Given the description of an element on the screen output the (x, y) to click on. 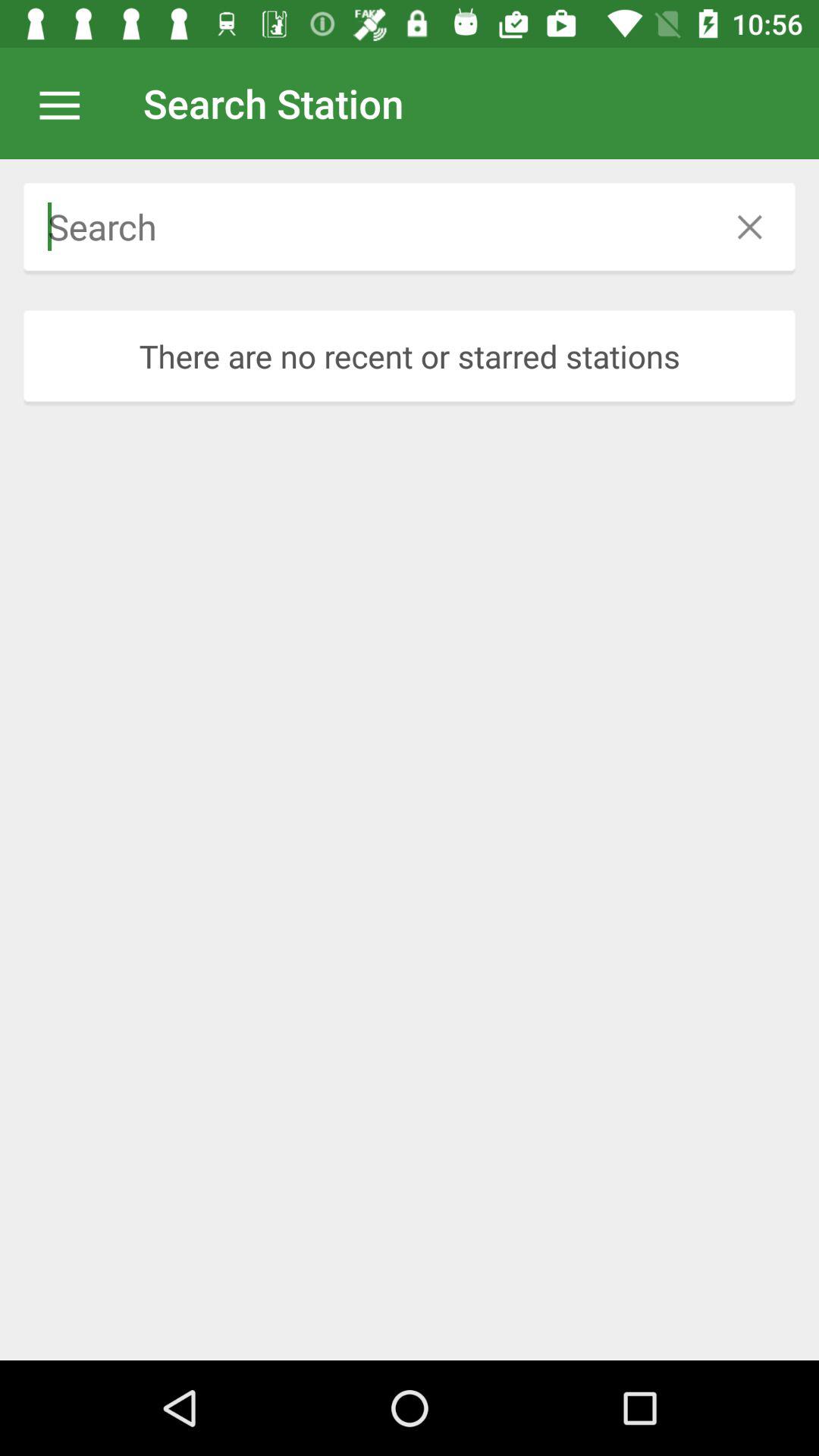
open menu (67, 103)
